Given the description of an element on the screen output the (x, y) to click on. 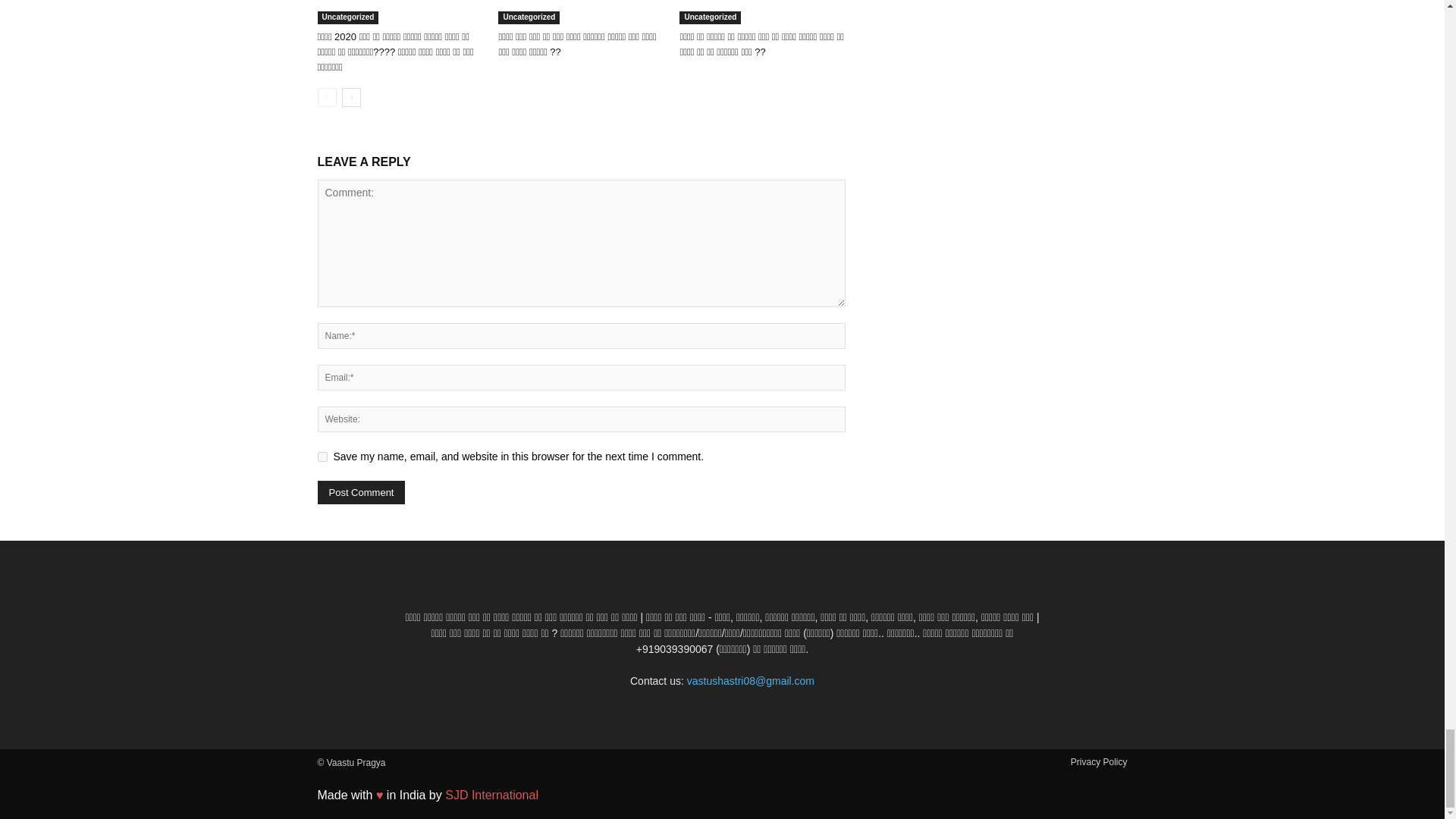
Post Comment (360, 492)
yes (321, 456)
